Given the description of an element on the screen output the (x, y) to click on. 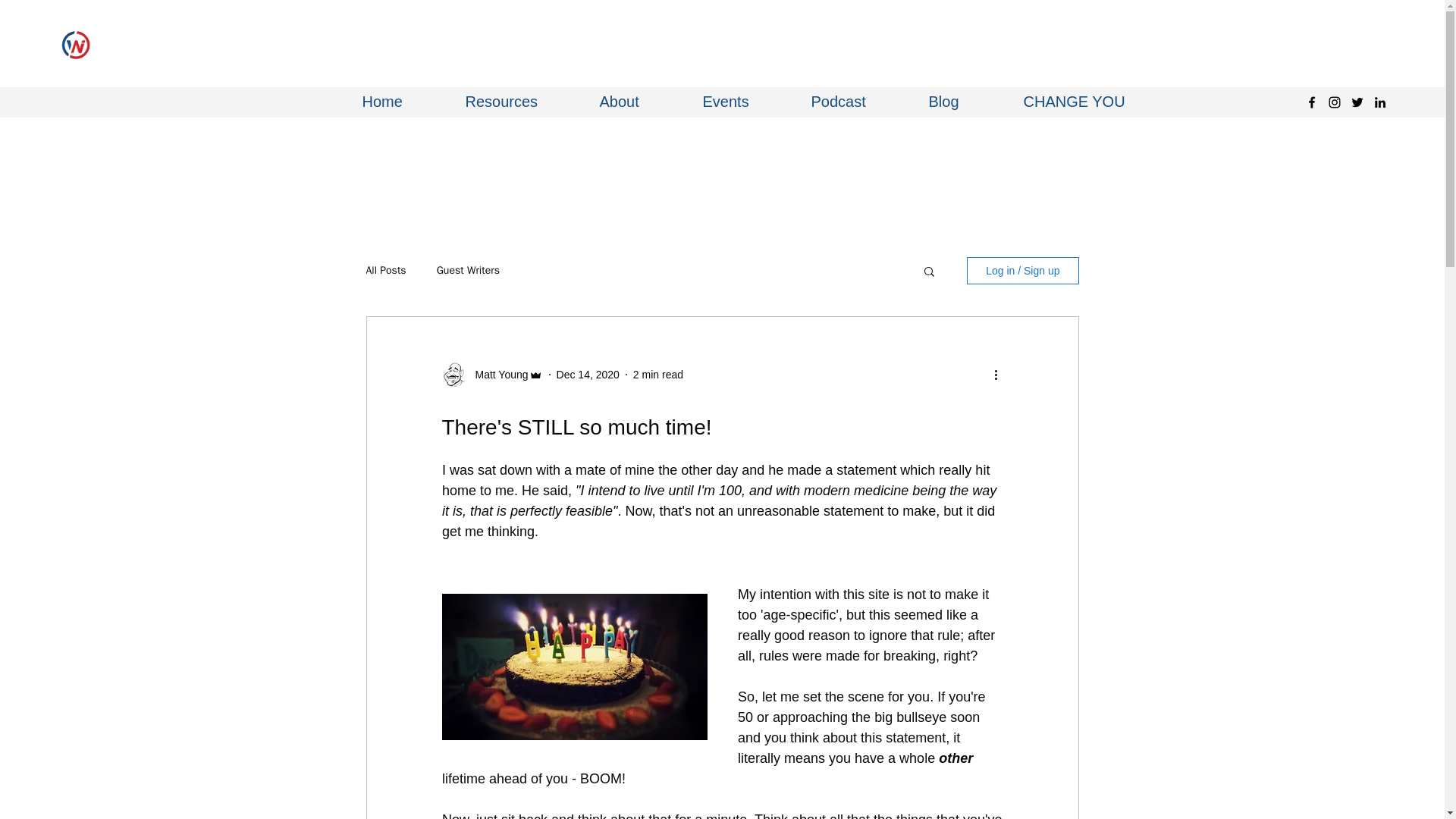
All Posts (385, 270)
Podcast (858, 101)
Events (745, 101)
Dec 14, 2020 (588, 374)
Blog (964, 101)
Resources (520, 101)
Matt Young (496, 374)
2 min read (657, 374)
About (639, 101)
Home (401, 101)
CHANGE YOU (1079, 101)
Guest Writers (467, 270)
